Given the description of an element on the screen output the (x, y) to click on. 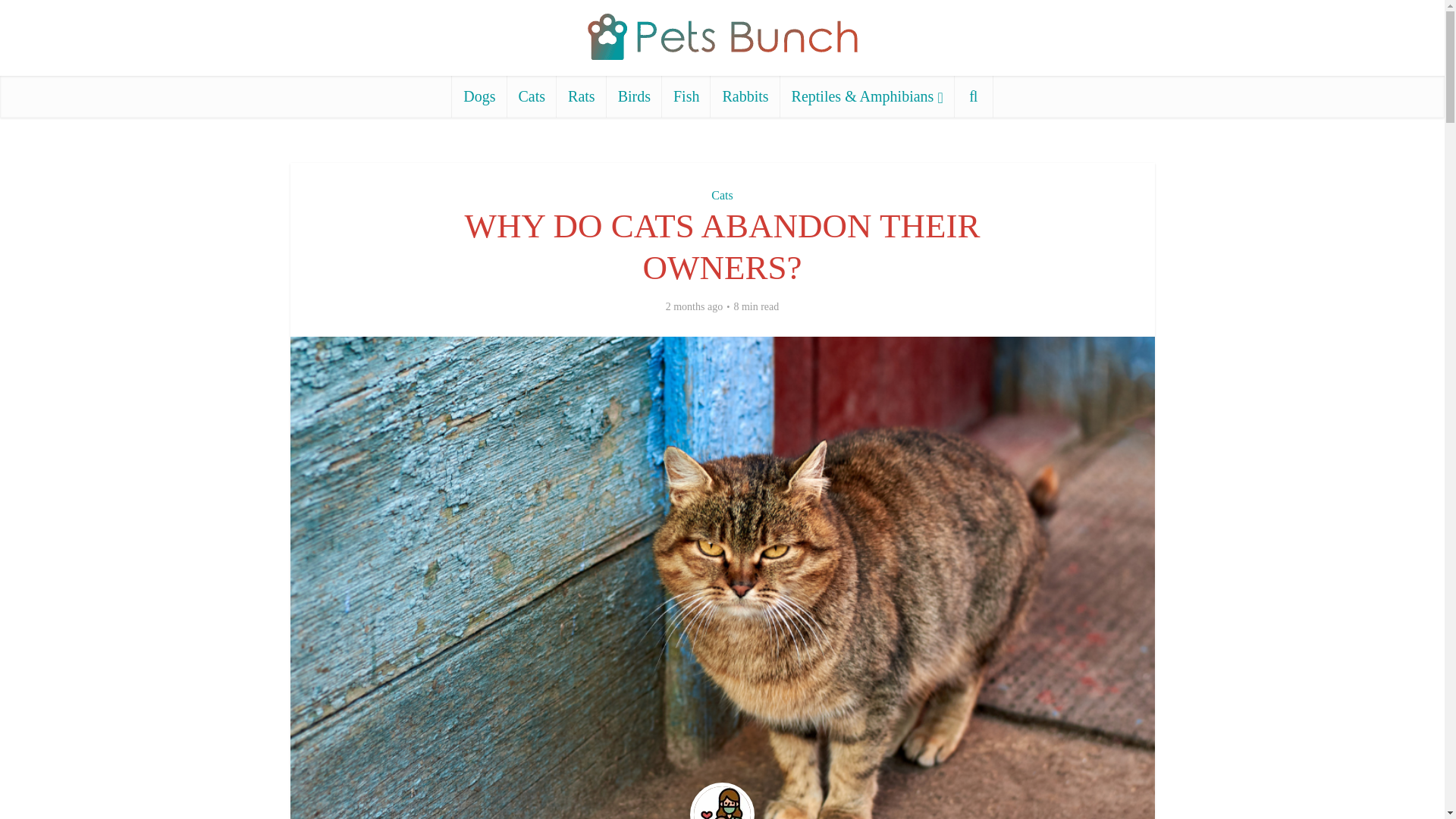
Rats (581, 96)
Rabbits (744, 96)
Birds (634, 96)
Fish (686, 96)
Cats (531, 96)
Dogs (478, 96)
Cats (721, 195)
